Given the description of an element on the screen output the (x, y) to click on. 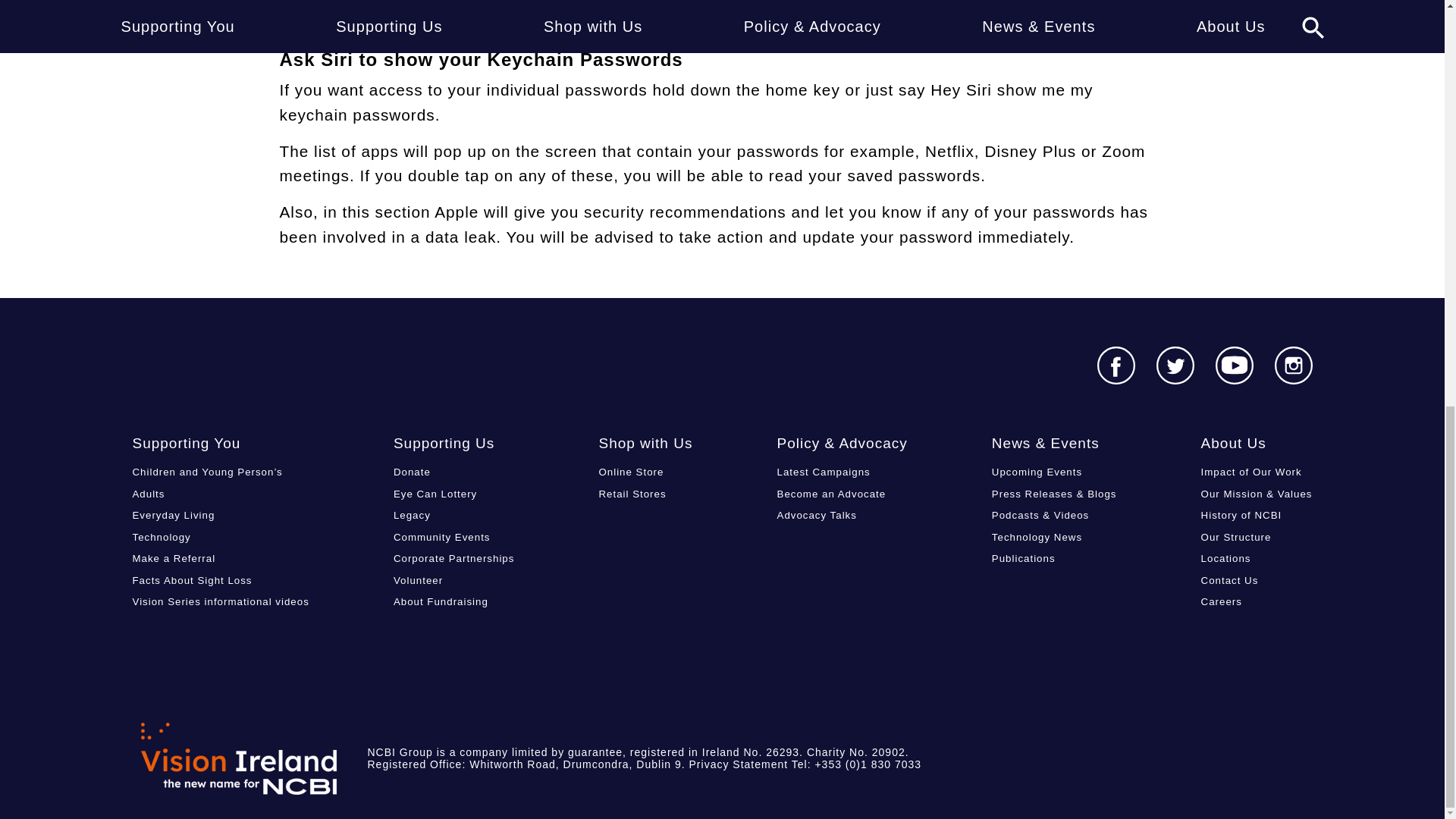
facebook icon (1115, 365)
